Given the description of an element on the screen output the (x, y) to click on. 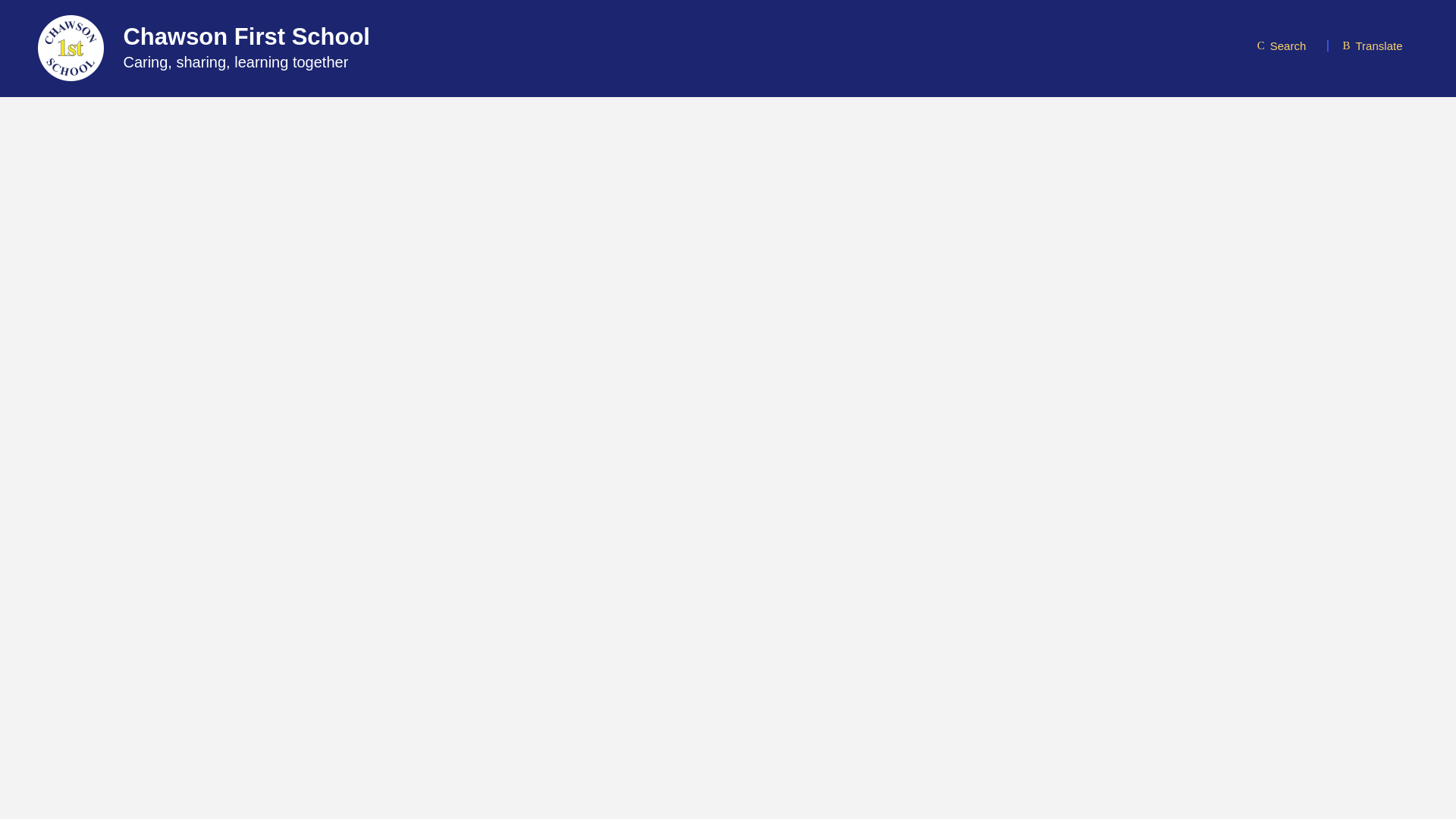
Home Page (70, 48)
